Given the description of an element on the screen output the (x, y) to click on. 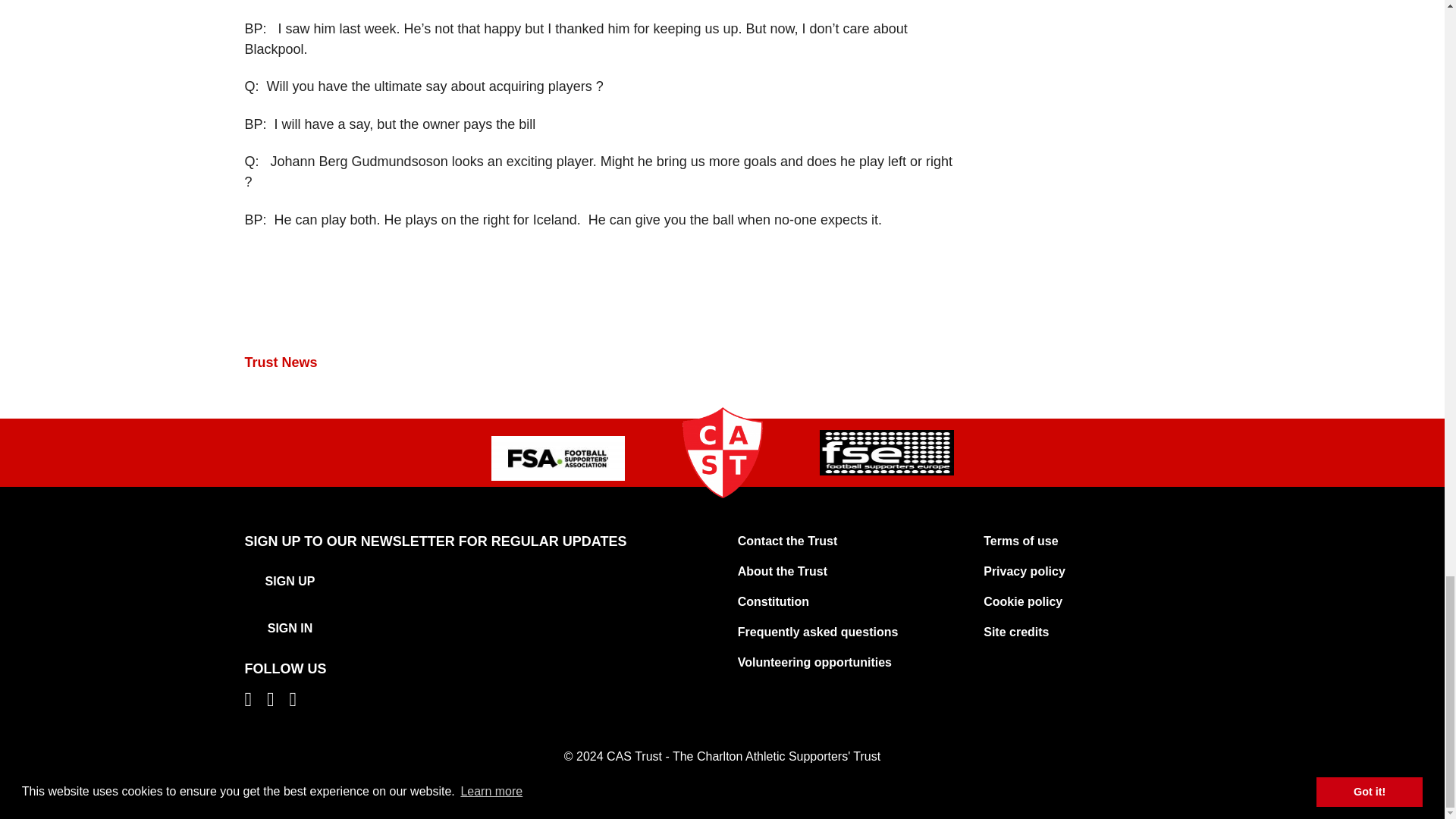
Trust News (280, 362)
FSA (559, 457)
CASTrust-Site-Icon (722, 452)
